Given the description of an element on the screen output the (x, y) to click on. 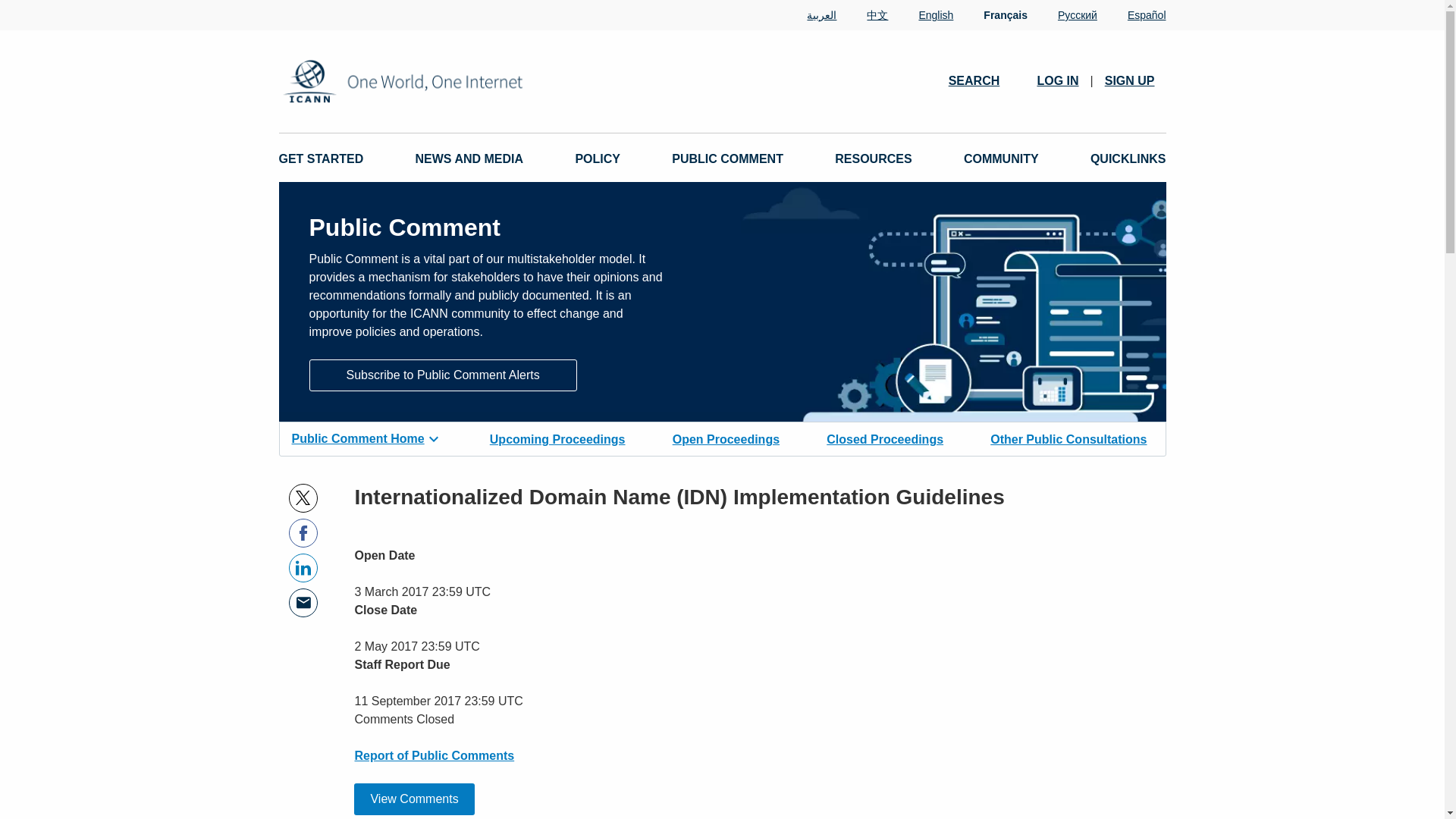
RESOURCES (872, 158)
Subscribe to Public Comment Alerts (442, 375)
Open Proceedings (725, 437)
SEARCH (981, 79)
QUICKLINKS (1128, 158)
SIGN UP (1129, 80)
Subscribe to Public Comment Alerts (442, 373)
LOG IN (1057, 81)
Logo (452, 81)
NEWS AND MEDIA (469, 158)
Other Public Consultations (1068, 437)
Upcoming Proceedings (557, 437)
Closed Proceedings (885, 437)
POLICY (597, 158)
COMMUNITY (1001, 158)
